Given the description of an element on the screen output the (x, y) to click on. 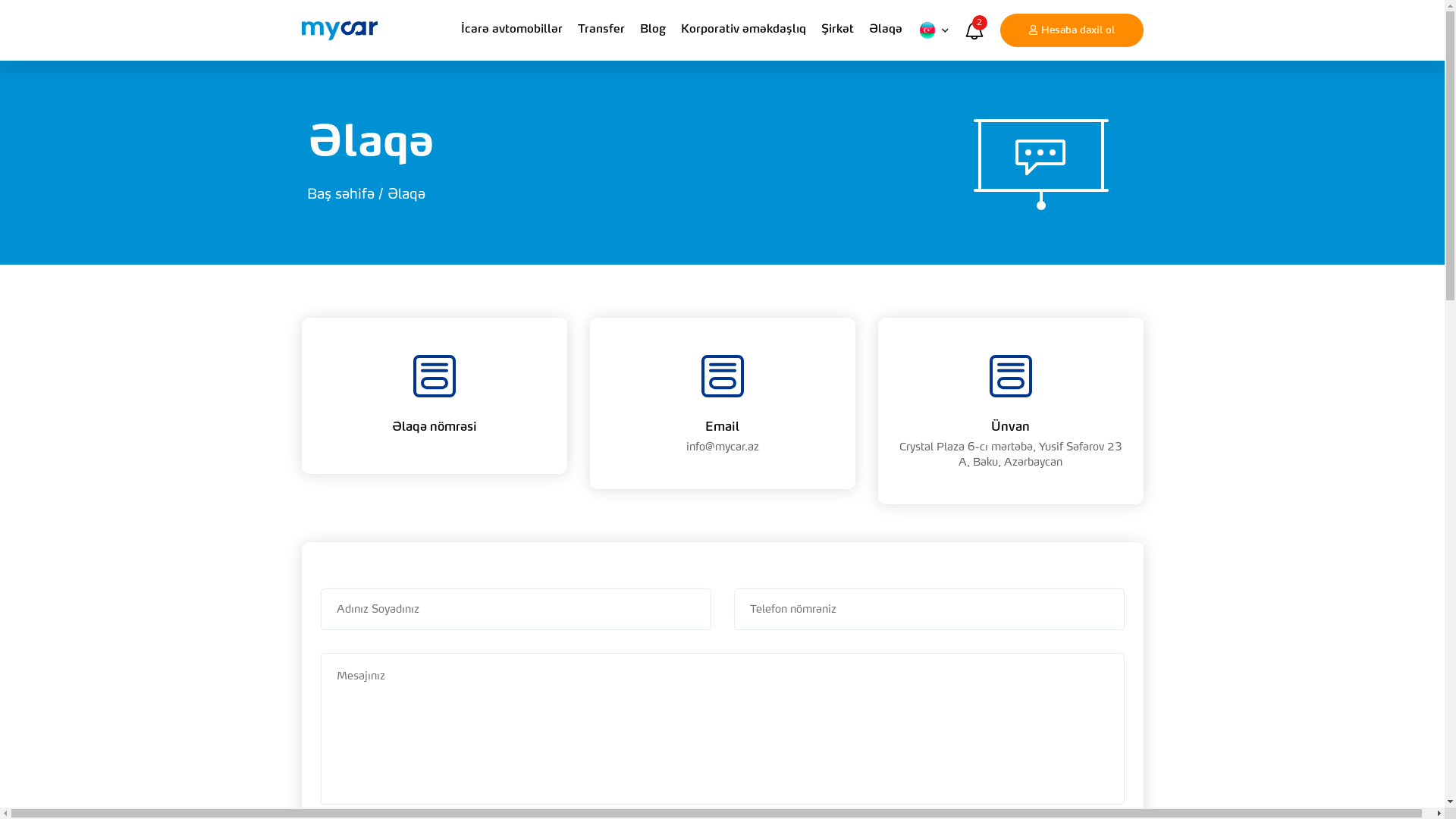
Transfer Element type: text (601, 30)
Email
info@mycar.az Element type: text (722, 403)
Hesaba daxil ol Element type: text (1070, 30)
Blog Element type: text (652, 30)
